Given the description of an element on the screen output the (x, y) to click on. 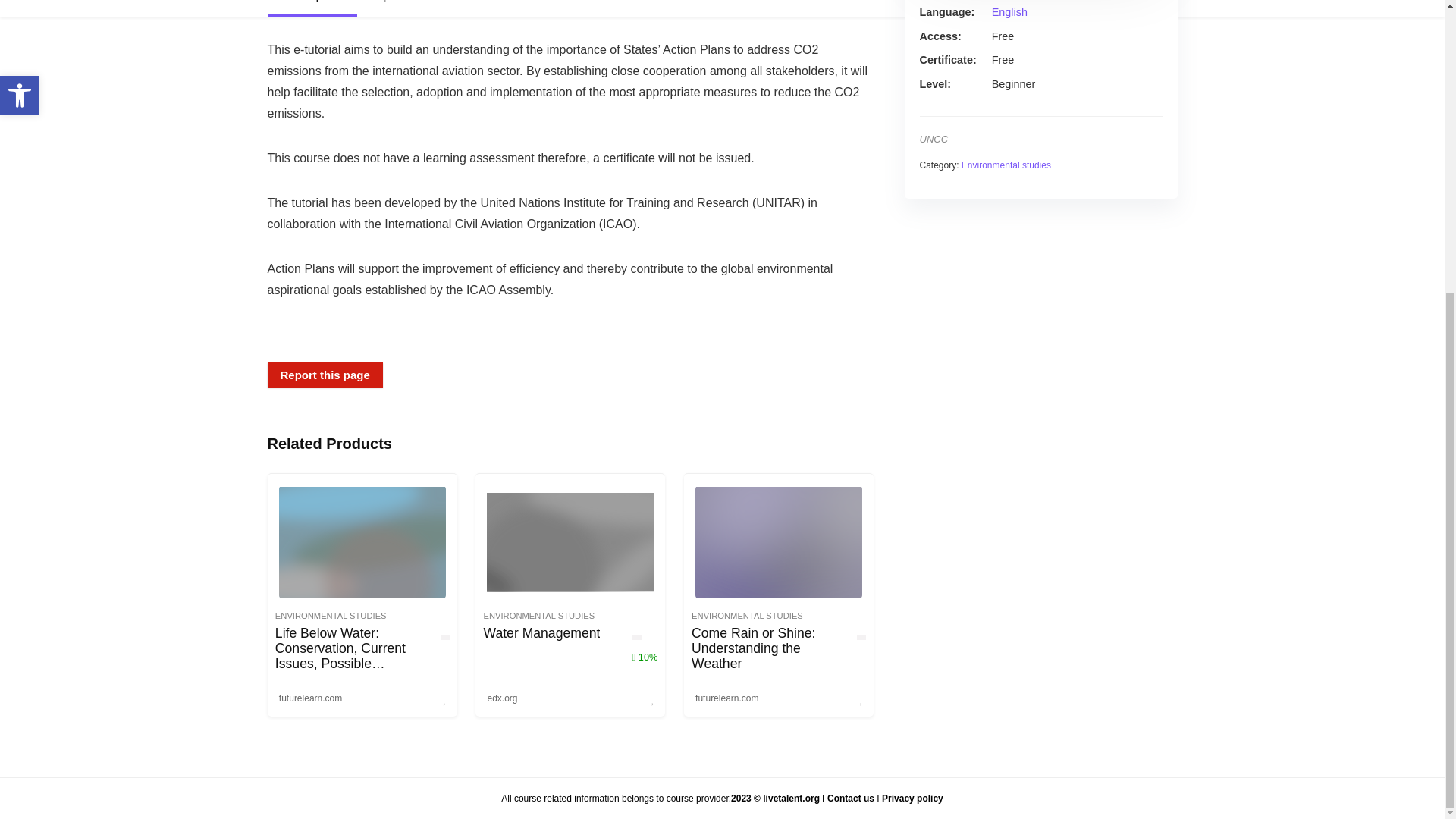
UNCC (932, 138)
ENVIRONMENTAL STUDIES (538, 614)
Environmental studies (1005, 164)
edx.org (502, 698)
futurelearn.com (310, 698)
Water Management (541, 632)
English (1009, 11)
Report (386, 8)
ENVIRONMENTAL STUDIES (331, 614)
